Given the description of an element on the screen output the (x, y) to click on. 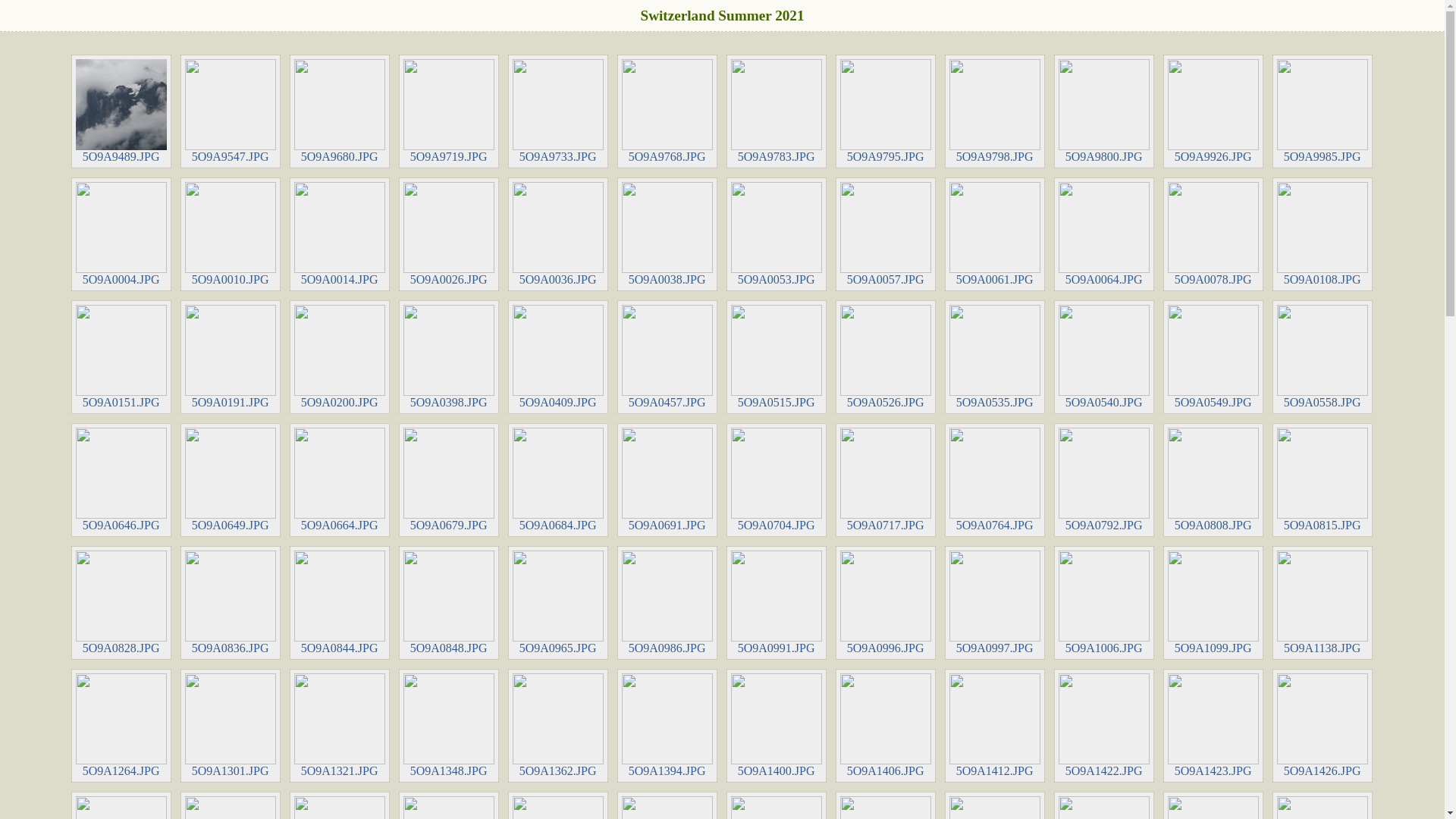
5O9A0764.JPG Element type: text (994, 479)
5O9A0679.JPG Element type: text (448, 479)
5O9A1426.JPG Element type: text (1322, 725)
5O9A0844.JPG Element type: text (339, 602)
5O9A0828.JPG Element type: text (121, 602)
5O9A1348.JPG Element type: text (448, 725)
5O9A9783.JPG Element type: text (776, 111)
5O9A9719.JPG Element type: text (448, 111)
5O9A0026.JPG Element type: text (448, 234)
5O9A0704.JPG Element type: text (776, 479)
5O9A9768.JPG Element type: text (667, 111)
5O9A0691.JPG Element type: text (667, 479)
5O9A0061.JPG Element type: text (994, 234)
5O9A9547.JPG Element type: text (230, 111)
5O9A0200.JPG Element type: text (339, 357)
5O9A1362.JPG Element type: text (558, 725)
5O9A1006.JPG Element type: text (1104, 602)
5O9A9798.JPG Element type: text (994, 111)
5O9A1321.JPG Element type: text (339, 725)
5O9A0549.JPG Element type: text (1213, 357)
5O9A0836.JPG Element type: text (230, 602)
5O9A1394.JPG Element type: text (667, 725)
5O9A9926.JPG Element type: text (1213, 111)
5O9A0053.JPG Element type: text (776, 234)
5O9A0815.JPG Element type: text (1322, 479)
5O9A1406.JPG Element type: text (885, 725)
5O9A0191.JPG Element type: text (230, 357)
5O9A0151.JPG Element type: text (121, 357)
5O9A0409.JPG Element type: text (558, 357)
5O9A1264.JPG Element type: text (121, 725)
5O9A0717.JPG Element type: text (885, 479)
5O9A1301.JPG Element type: text (230, 725)
5O9A0986.JPG Element type: text (667, 602)
5O9A0646.JPG Element type: text (121, 479)
5O9A1412.JPG Element type: text (994, 725)
5O9A1099.JPG Element type: text (1213, 602)
5O9A0808.JPG Element type: text (1213, 479)
5O9A0649.JPG Element type: text (230, 479)
5O9A0540.JPG Element type: text (1104, 357)
5O9A1138.JPG Element type: text (1322, 602)
5O9A1422.JPG Element type: text (1104, 725)
5O9A0558.JPG Element type: text (1322, 357)
5O9A0064.JPG Element type: text (1104, 234)
5O9A9795.JPG Element type: text (885, 111)
5O9A0014.JPG Element type: text (339, 234)
5O9A0684.JPG Element type: text (558, 479)
5O9A0664.JPG Element type: text (339, 479)
5O9A0108.JPG Element type: text (1322, 234)
5O9A0792.JPG Element type: text (1104, 479)
5O9A0004.JPG Element type: text (121, 234)
5O9A0398.JPG Element type: text (448, 357)
5O9A0057.JPG Element type: text (885, 234)
5O9A0457.JPG Element type: text (667, 357)
5O9A0515.JPG Element type: text (776, 357)
5O9A9733.JPG Element type: text (558, 111)
5O9A0526.JPG Element type: text (885, 357)
5O9A0991.JPG Element type: text (776, 602)
5O9A0997.JPG Element type: text (994, 602)
5O9A0965.JPG Element type: text (558, 602)
5O9A0996.JPG Element type: text (885, 602)
5O9A0036.JPG Element type: text (558, 234)
5O9A1400.JPG Element type: text (776, 725)
5O9A9680.JPG Element type: text (339, 111)
5O9A1423.JPG Element type: text (1213, 725)
5O9A9800.JPG Element type: text (1104, 111)
5O9A0535.JPG Element type: text (994, 357)
5O9A0078.JPG Element type: text (1213, 234)
5O9A0038.JPG Element type: text (667, 234)
5O9A9985.JPG Element type: text (1322, 111)
5O9A0010.JPG Element type: text (230, 234)
5O9A0848.JPG Element type: text (448, 602)
5O9A9489.JPG Element type: text (121, 111)
